Given the description of an element on the screen output the (x, y) to click on. 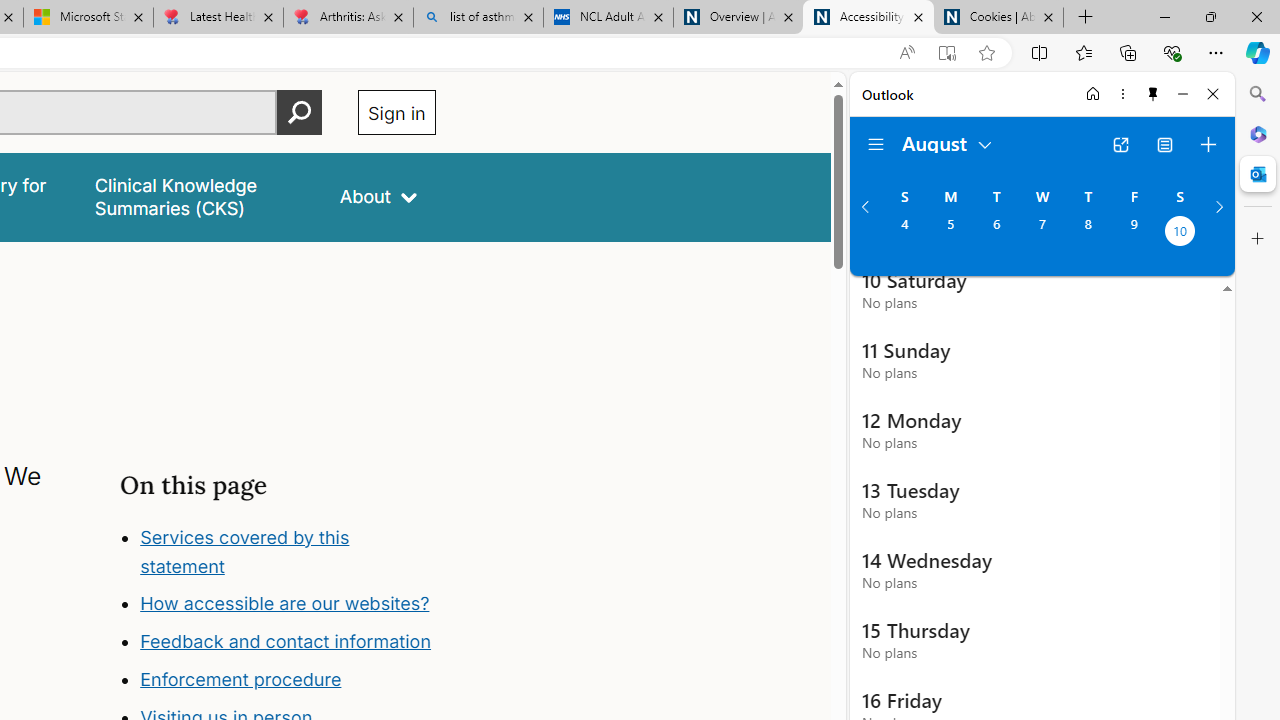
Feedback and contact information (287, 642)
Enter Immersive Reader (F9) (946, 53)
How accessible are our websites? (287, 604)
Sunday, August 4, 2024.  (904, 233)
August (948, 141)
list of asthma inhalers uk - Search (477, 17)
Folder navigation (876, 144)
NCL Adult Asthma Inhaler Choice Guideline (608, 17)
Perform search (299, 112)
Saturday, August 10, 2024. Date selected.  (1180, 233)
